Given the description of an element on the screen output the (x, y) to click on. 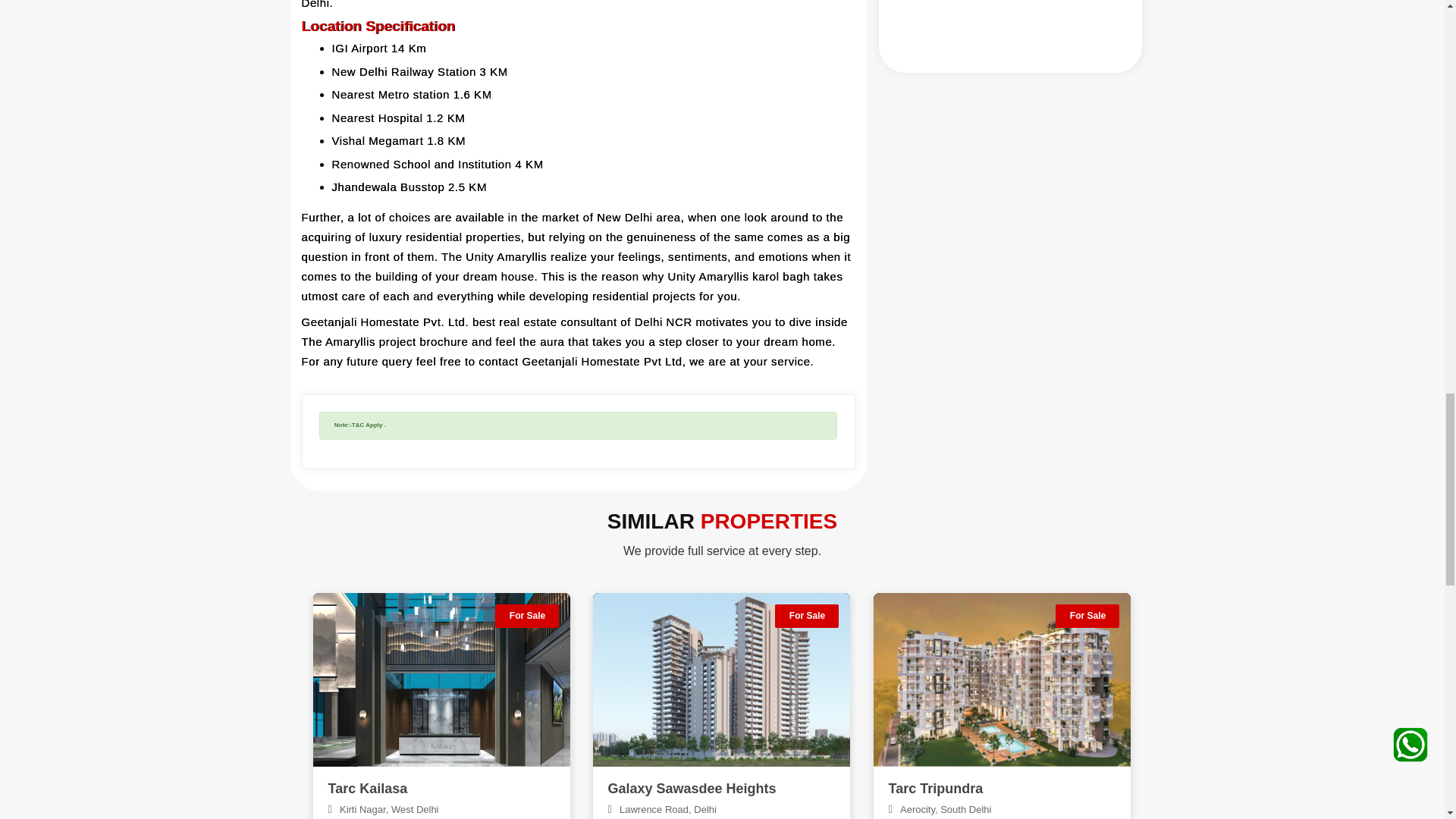
EmbedSocial Universal Widget (1009, 33)
